Given the description of an element on the screen output the (x, y) to click on. 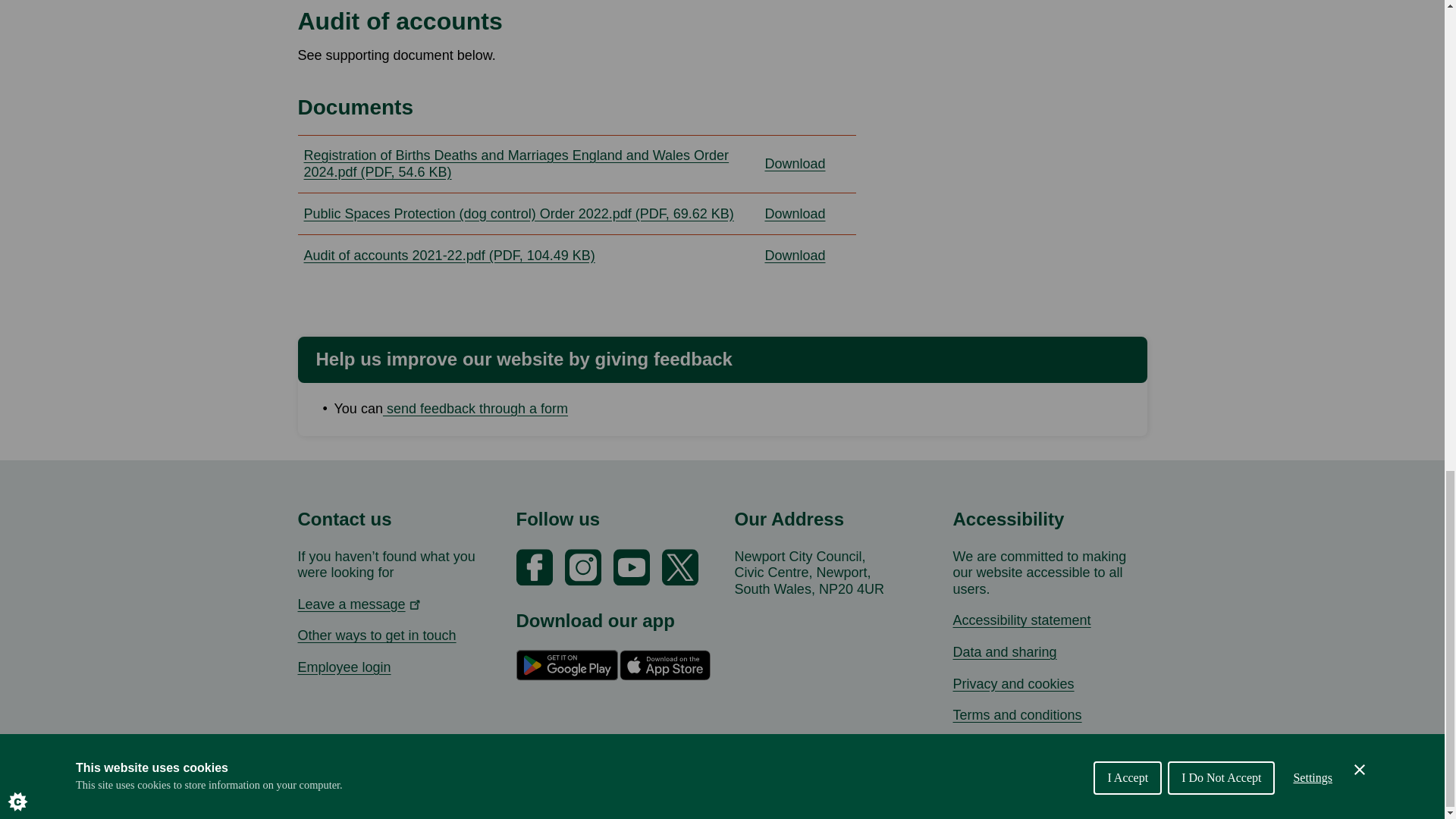
Privacy policy (1013, 683)
Data and sharing (1004, 652)
Contact the council (376, 635)
Accessibility (1021, 620)
Terms and conditions (1016, 714)
Employee self service  (343, 667)
Download (806, 164)
